Given the description of an element on the screen output the (x, y) to click on. 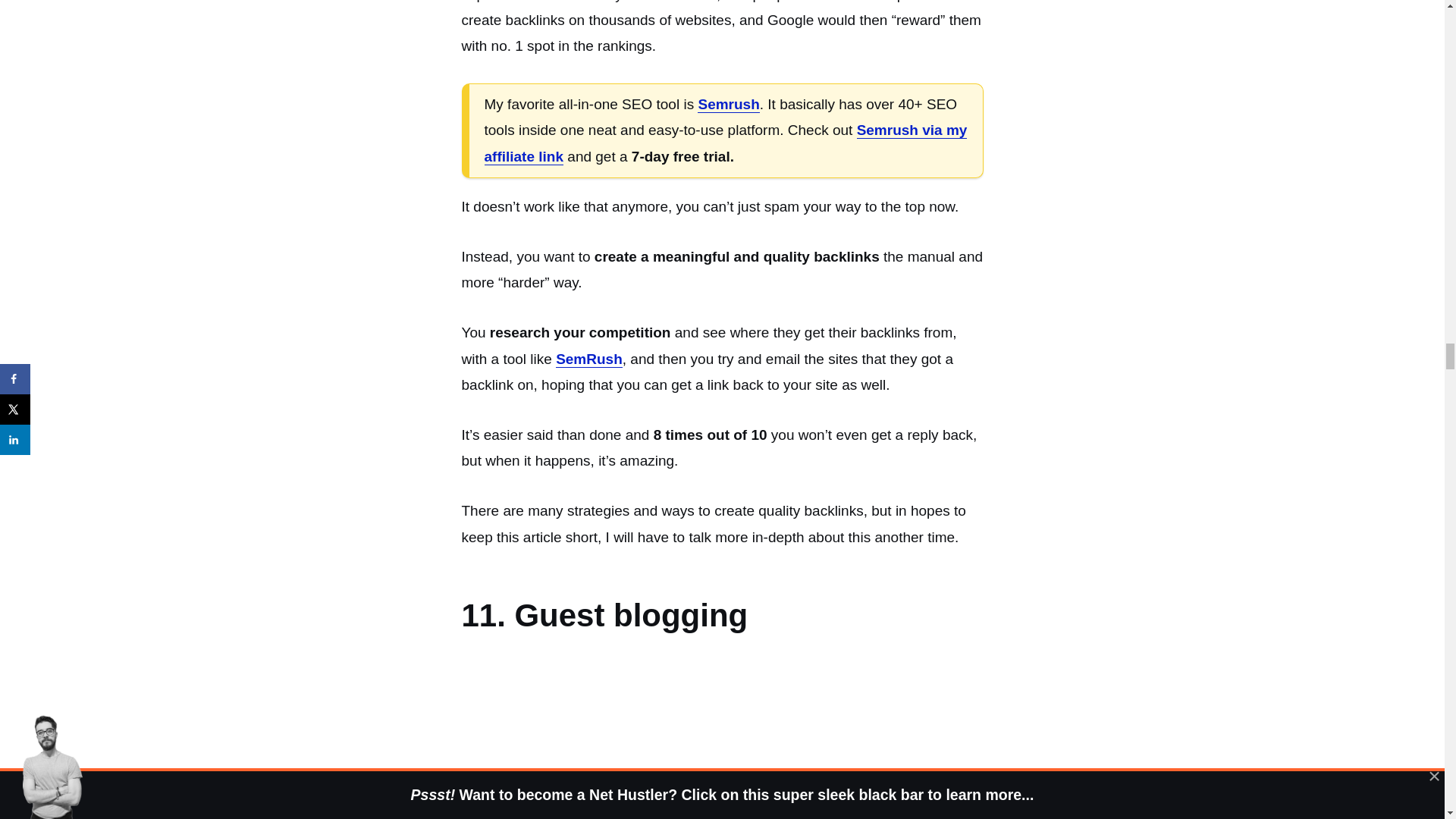
Semrush (727, 104)
SemRush (589, 359)
Semrush via my affiliate link (724, 143)
